Given the description of an element on the screen output the (x, y) to click on. 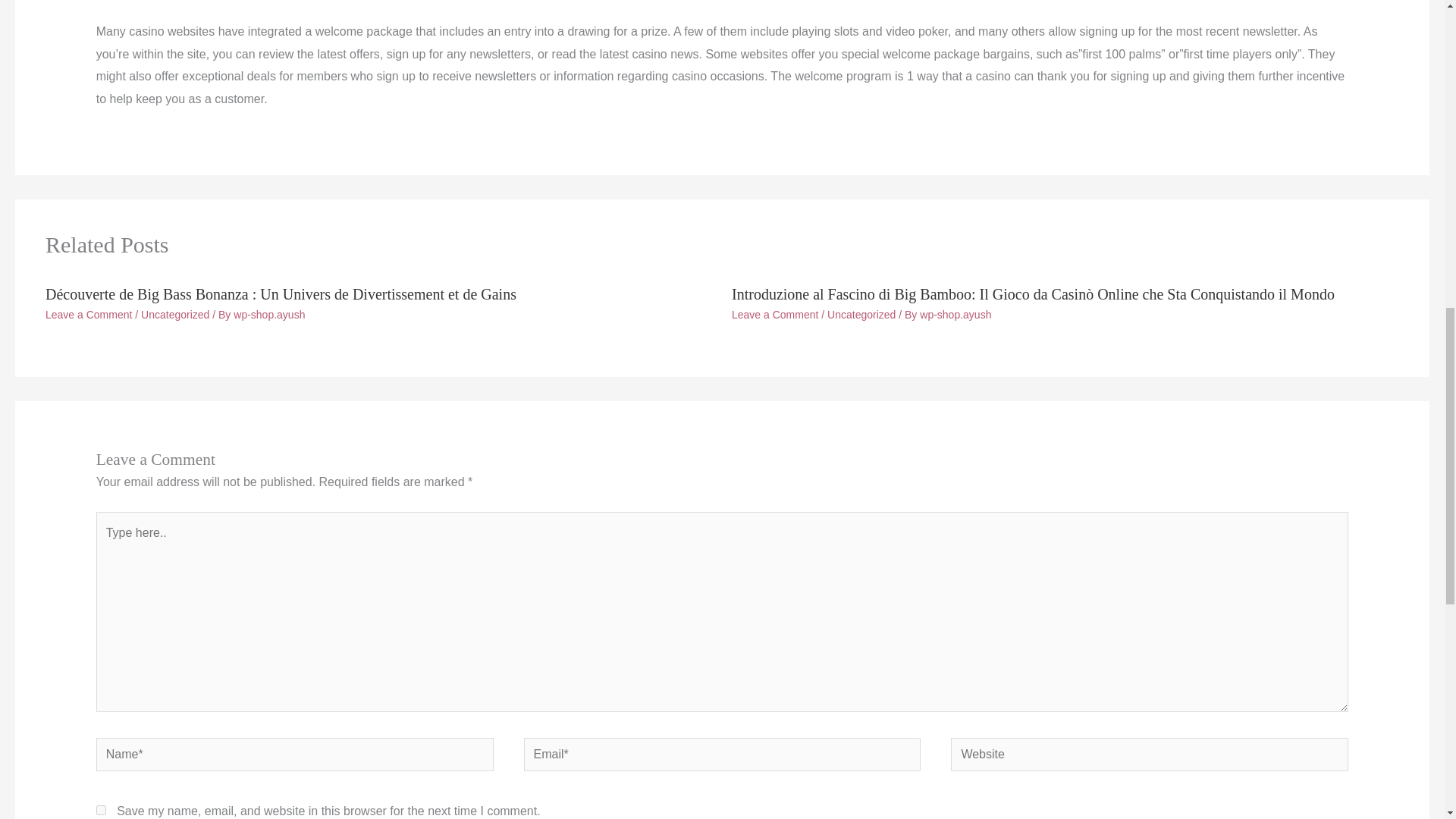
View all posts by wp-shop.ayush (955, 314)
View all posts by wp-shop.ayush (268, 314)
yes (101, 809)
